Given the description of an element on the screen output the (x, y) to click on. 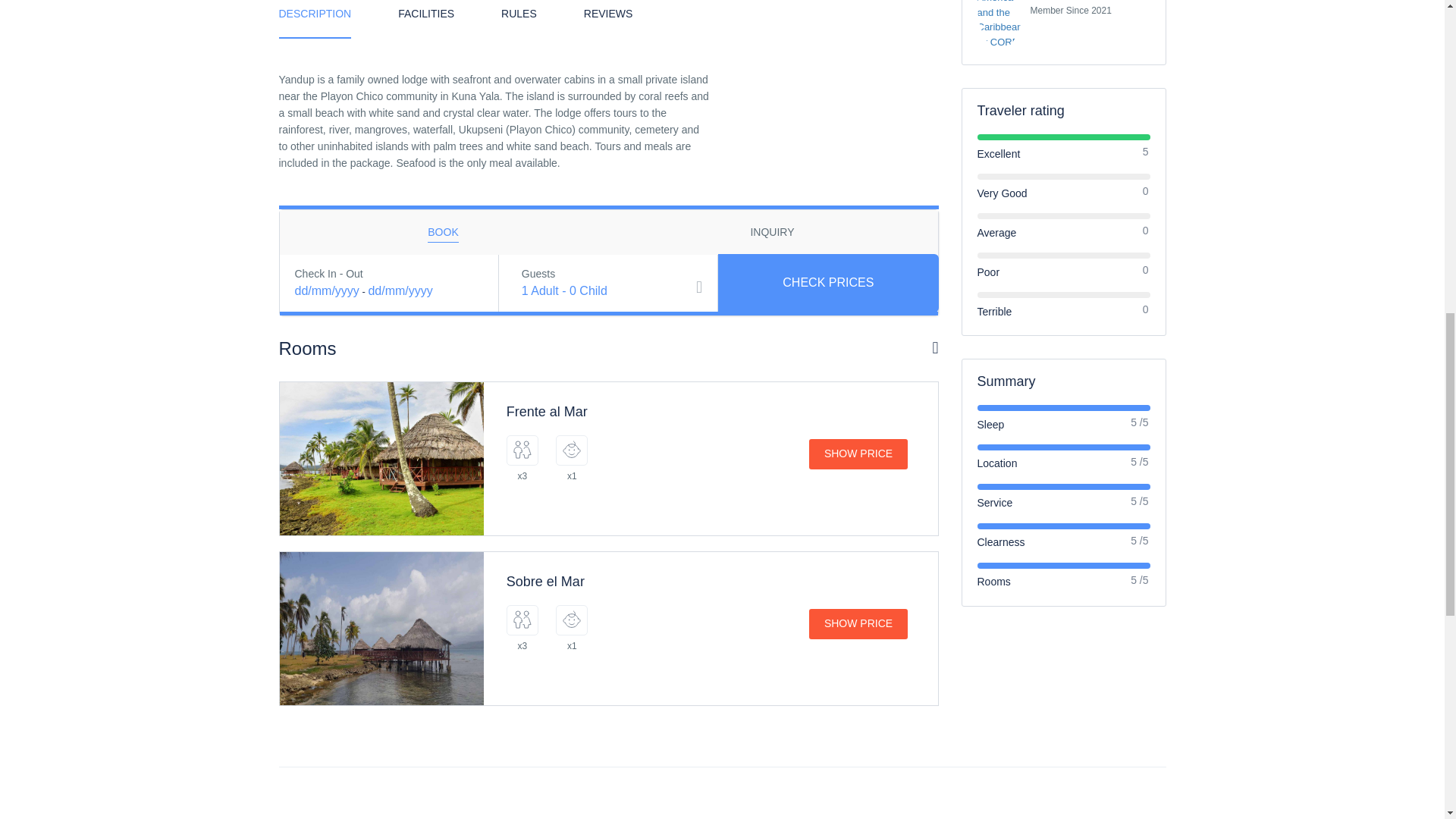
Created with Sketch. (522, 619)
FACILITIES (425, 18)
Check Prices (828, 283)
Created with Sketch. (571, 619)
Created with Sketch. (522, 449)
RULES (518, 18)
DESCRIPTION (315, 19)
Created with Sketch. (571, 449)
